Given the description of an element on the screen output the (x, y) to click on. 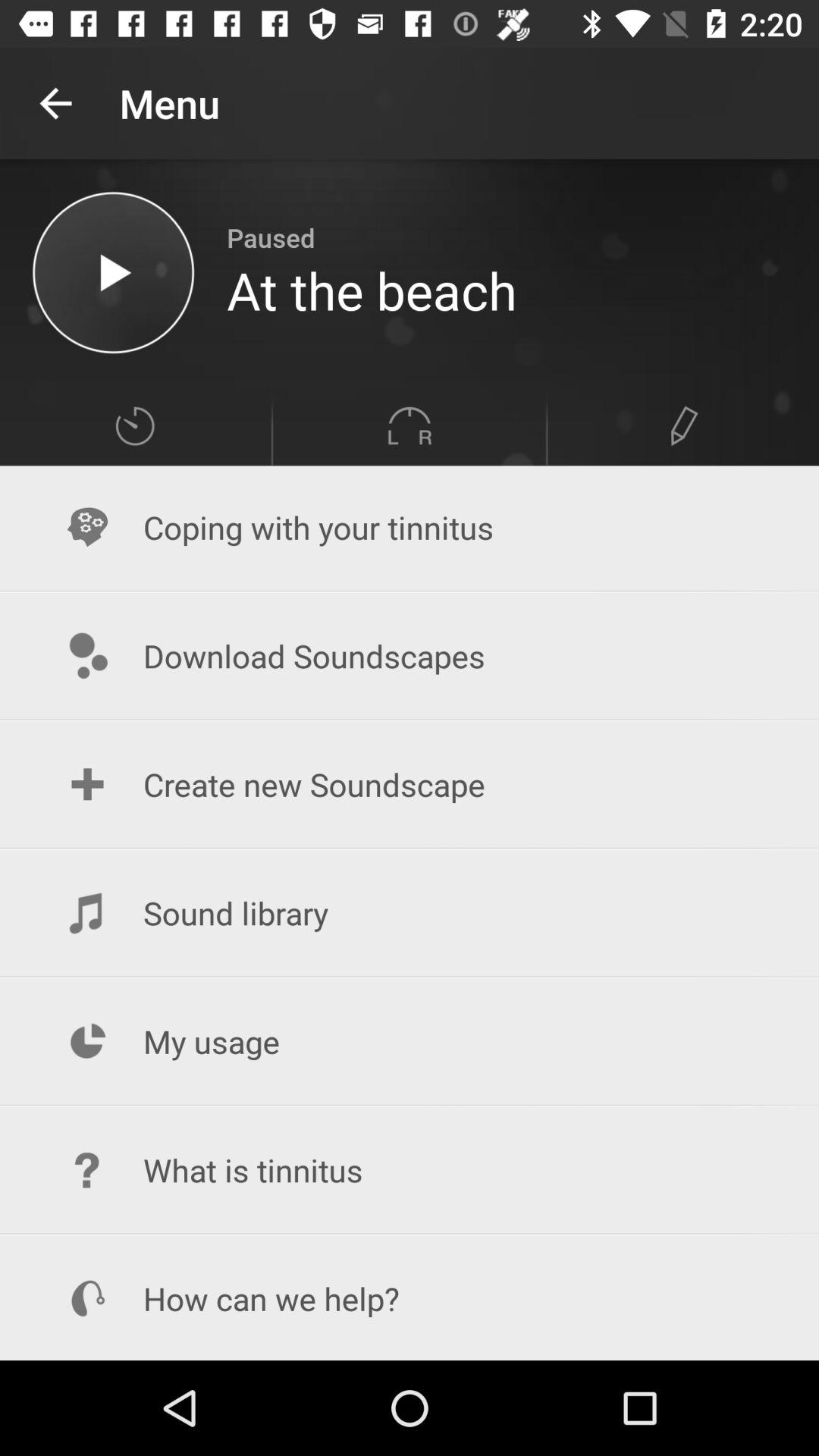
press the icon below sound library icon (409, 1041)
